Given the description of an element on the screen output the (x, y) to click on. 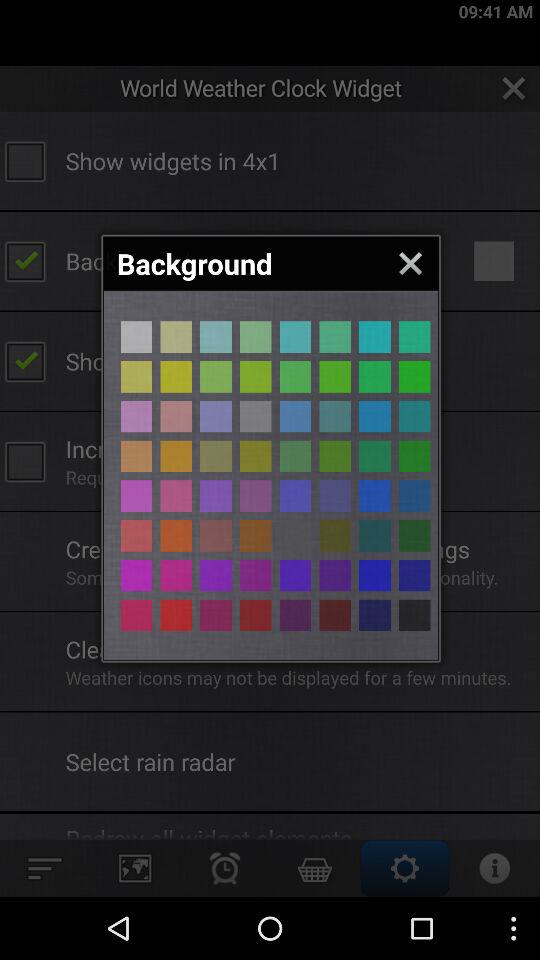
box (374, 336)
